Given the description of an element on the screen output the (x, y) to click on. 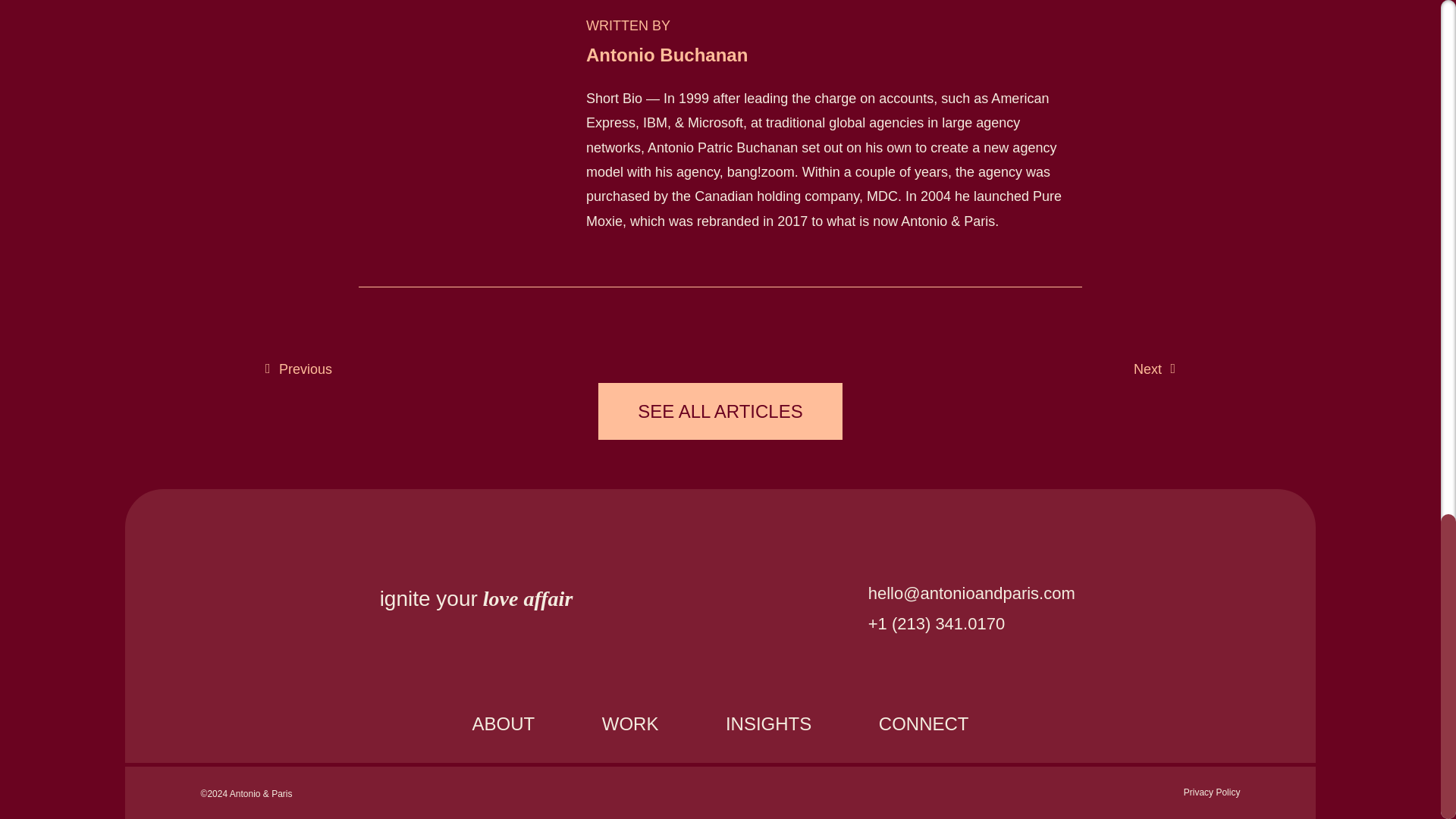
Previous (297, 369)
INSIGHTS (768, 723)
SEE ALL ARTICLES (719, 411)
Next (1154, 369)
Privacy Policy (1211, 792)
CONNECT (923, 723)
ABOUT (503, 723)
blog landing page (719, 411)
WORK (630, 723)
